Given the description of an element on the screen output the (x, y) to click on. 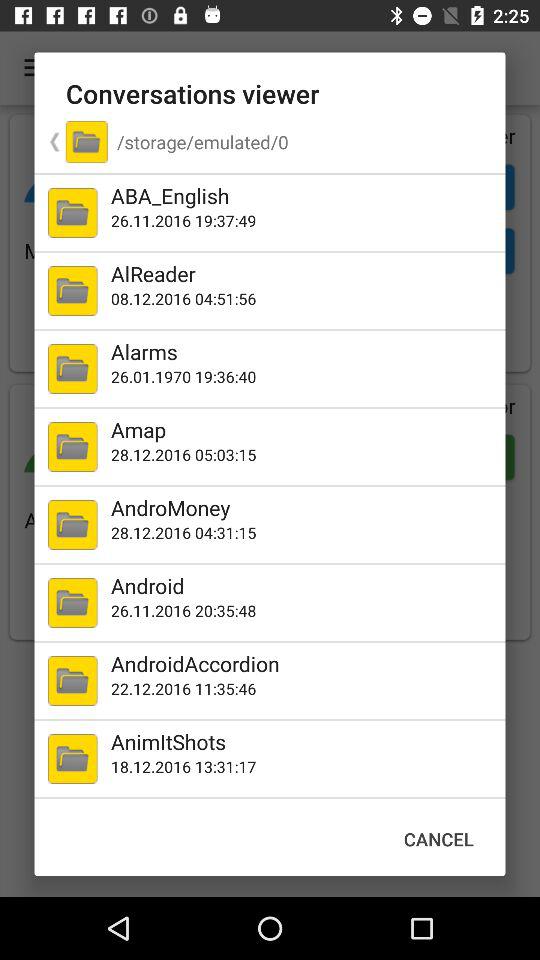
select item above the 08 12 2016 (304, 273)
